Given the description of an element on the screen output the (x, y) to click on. 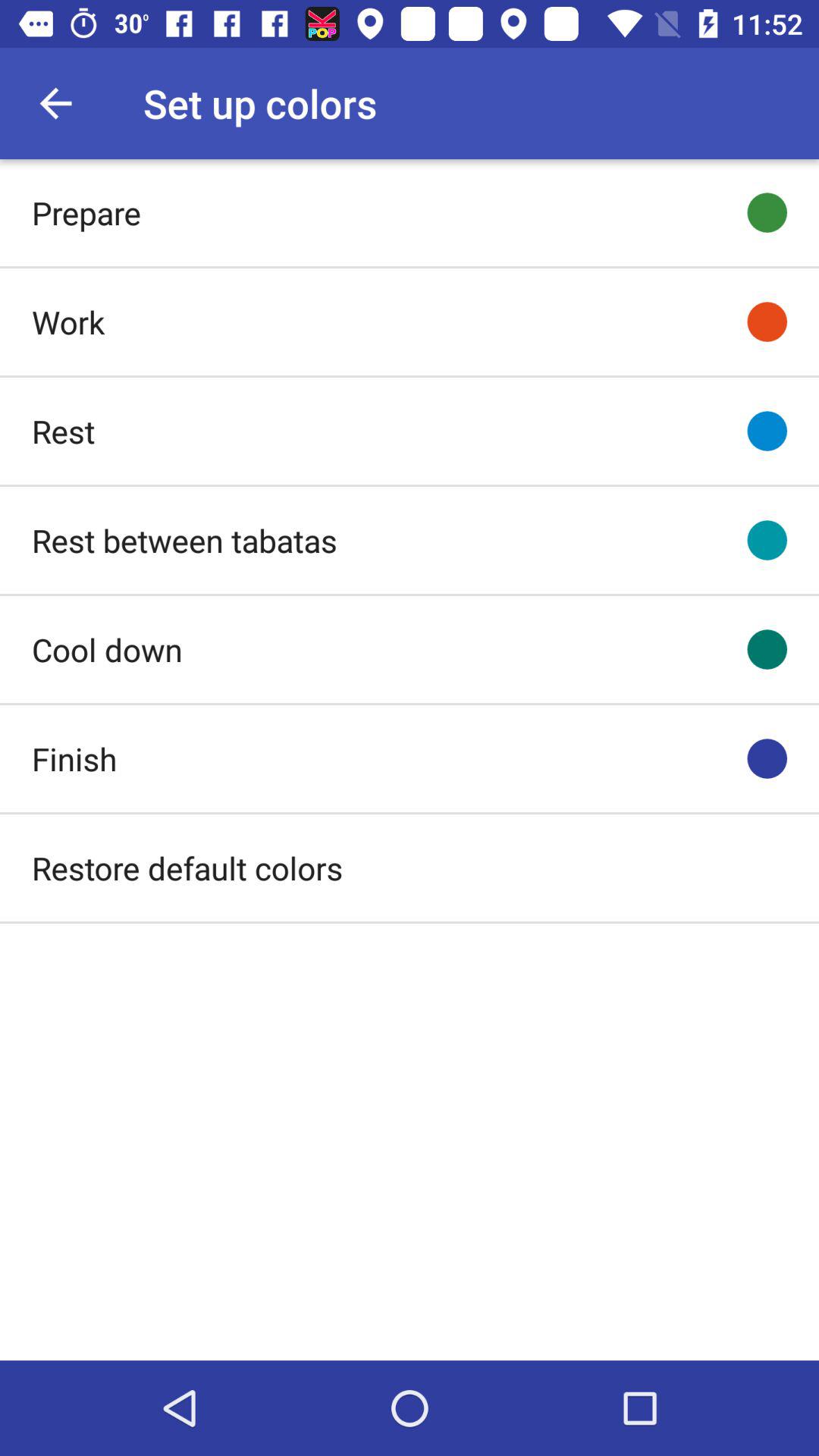
launch the item below prepare item (67, 321)
